Given the description of an element on the screen output the (x, y) to click on. 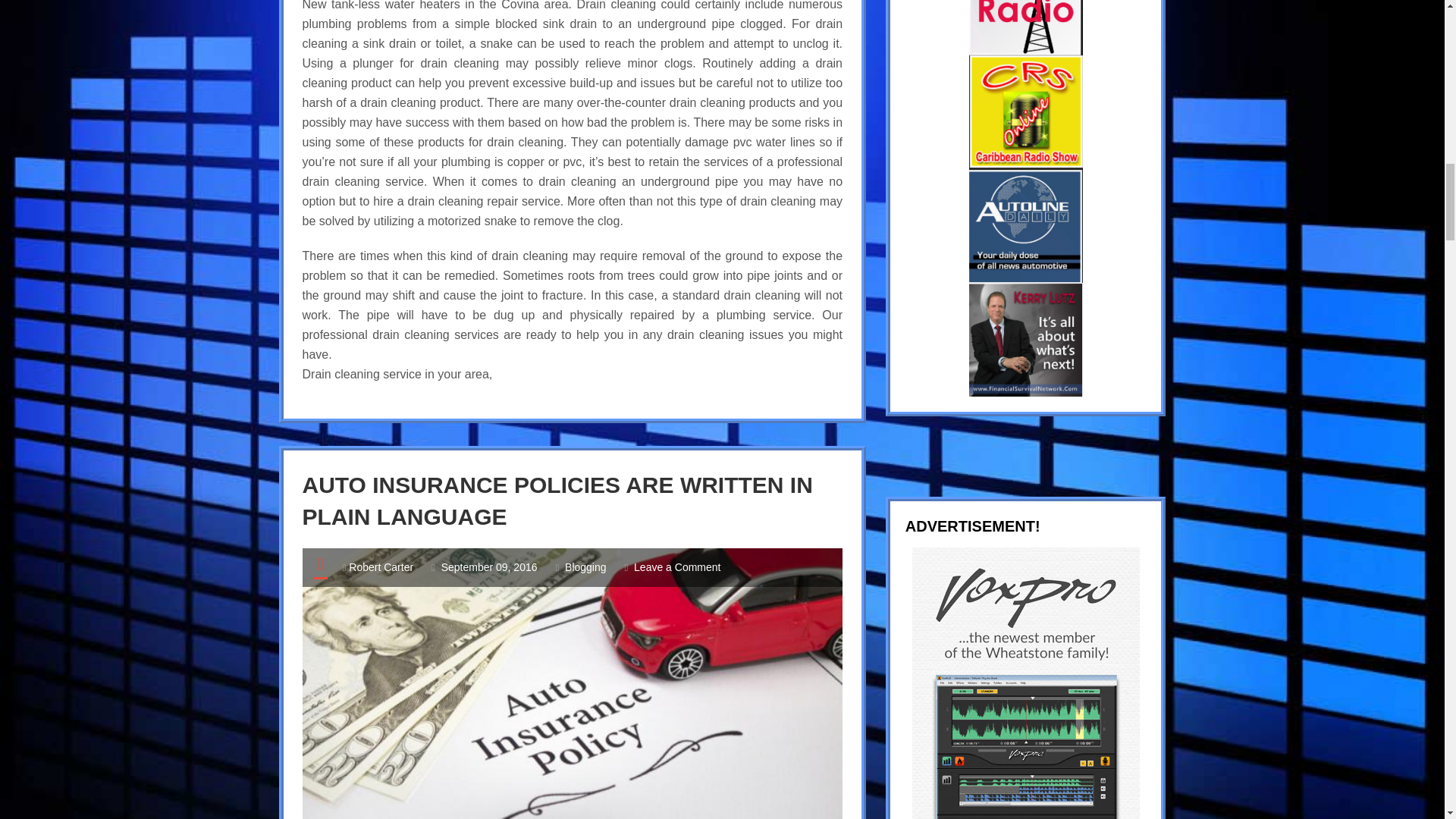
Robert Carter (381, 567)
Auto insurance policies are written in plain language (556, 500)
AUTO INSURANCE POLICIES ARE WRITTEN IN PLAIN LANGUAGE (556, 500)
September 9, 2016 (489, 567)
Leave a Comment (676, 567)
Blogging (585, 567)
Posts by Robert Carter (381, 567)
